Given the description of an element on the screen output the (x, y) to click on. 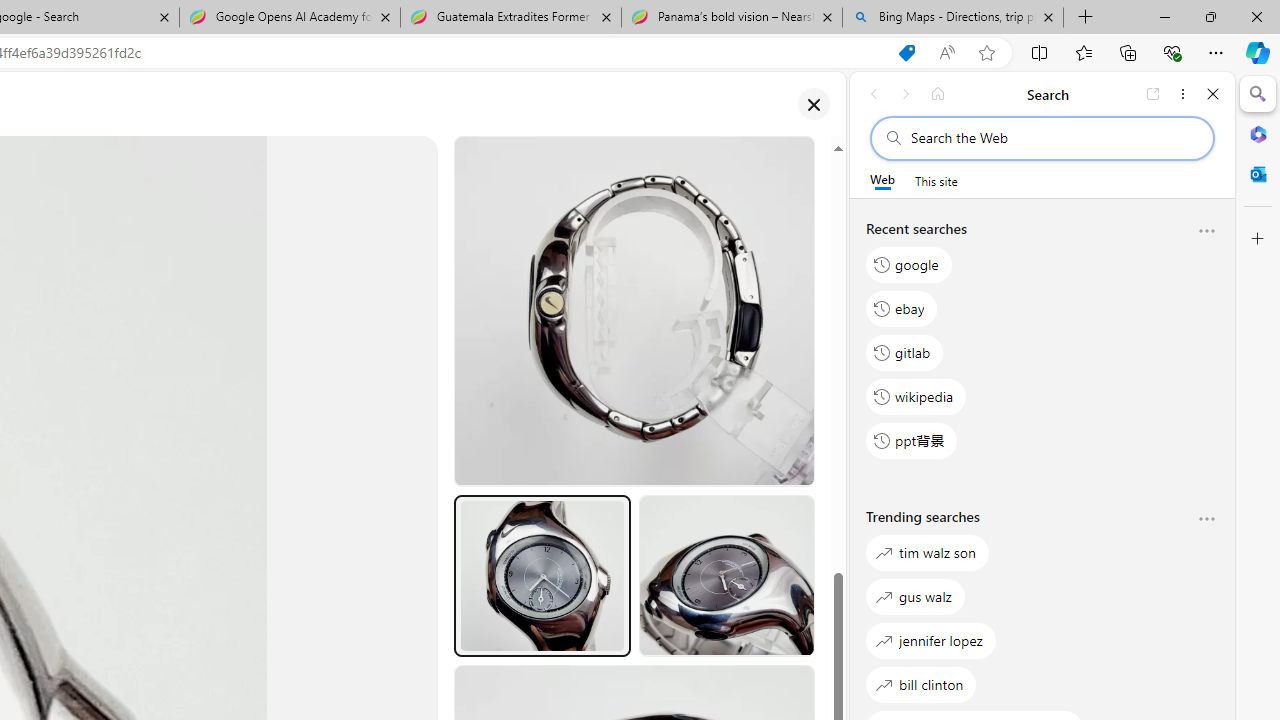
gus walz (915, 596)
ebay (902, 308)
google (909, 264)
